Given the description of an element on the screen output the (x, y) to click on. 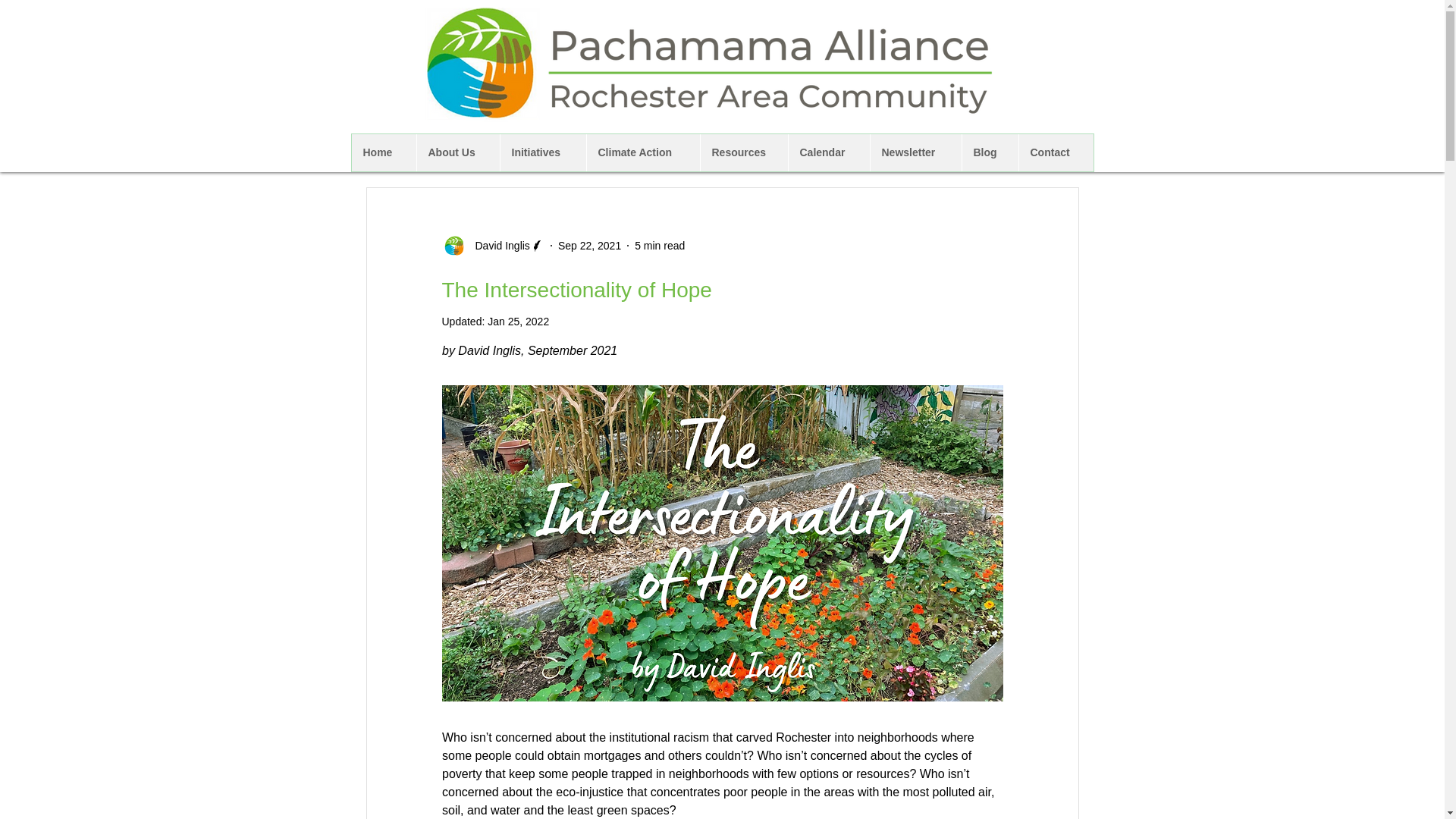
Jan 25, 2022 (517, 321)
5 min read (659, 245)
Home (384, 152)
About Us (456, 152)
Contact (1055, 152)
David Inglis (497, 245)
Calendar (828, 152)
Initiatives (542, 152)
Sep 22, 2021 (589, 245)
Newsletter (914, 152)
